Given the description of an element on the screen output the (x, y) to click on. 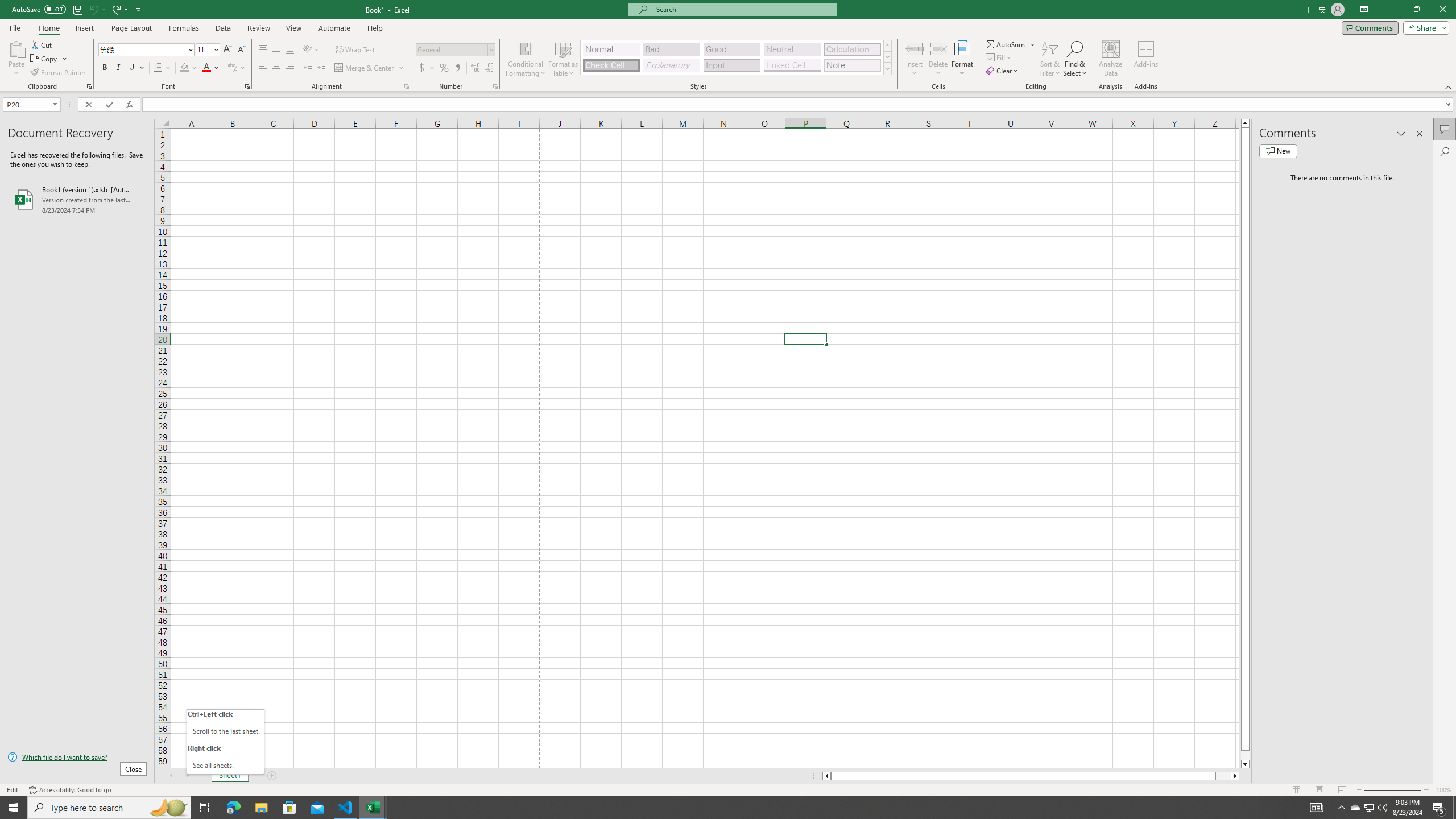
New comment (1278, 151)
Increase Decimal (474, 67)
Paste (16, 48)
Conditional Formatting (525, 58)
Borders (162, 67)
